Given the description of an element on the screen output the (x, y) to click on. 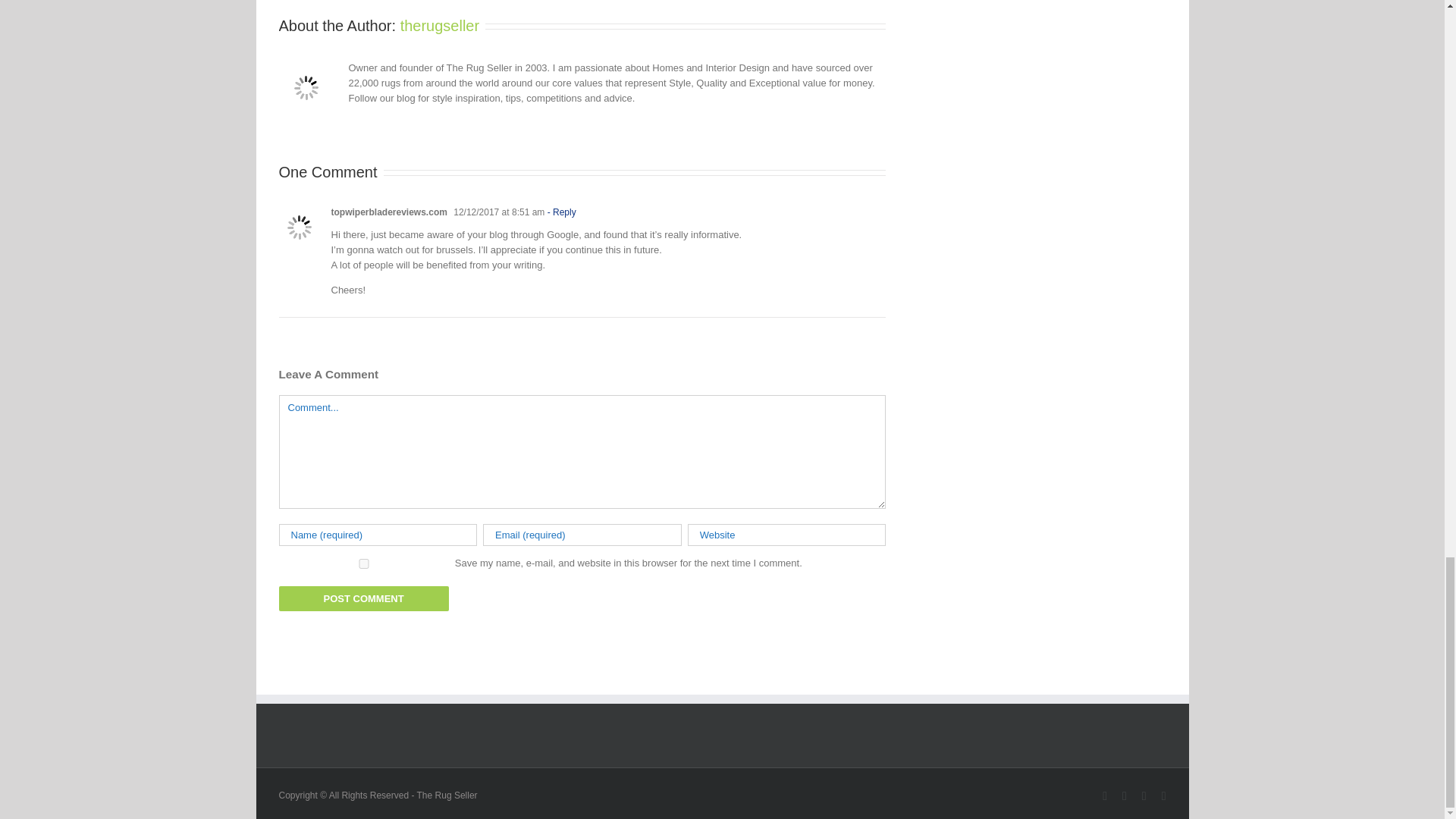
Posts by therugseller (440, 25)
yes (363, 563)
Post Comment (363, 598)
